Given the description of an element on the screen output the (x, y) to click on. 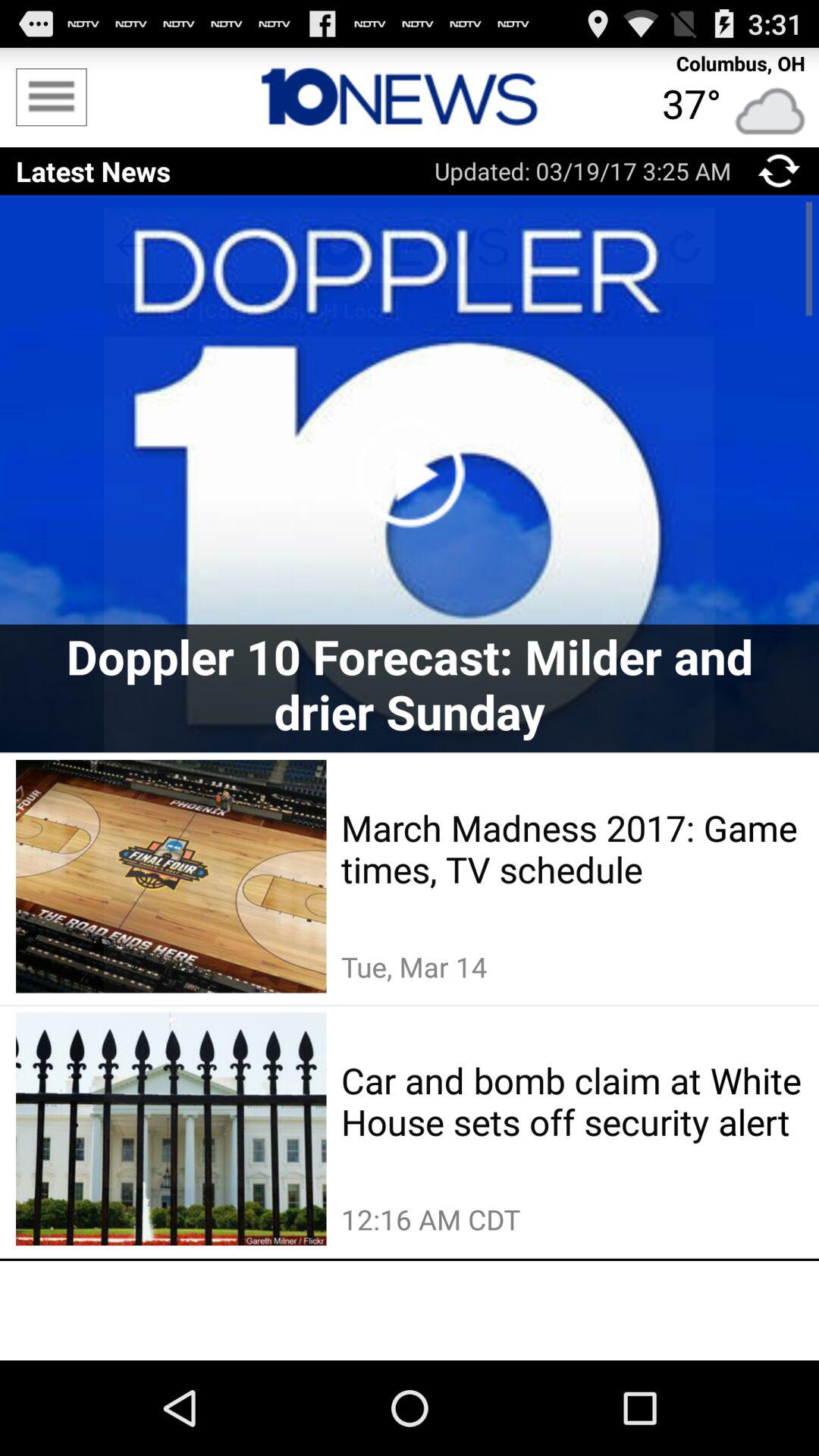
tap the icon to the right of the updated 03 19 app (779, 171)
